Given the description of an element on the screen output the (x, y) to click on. 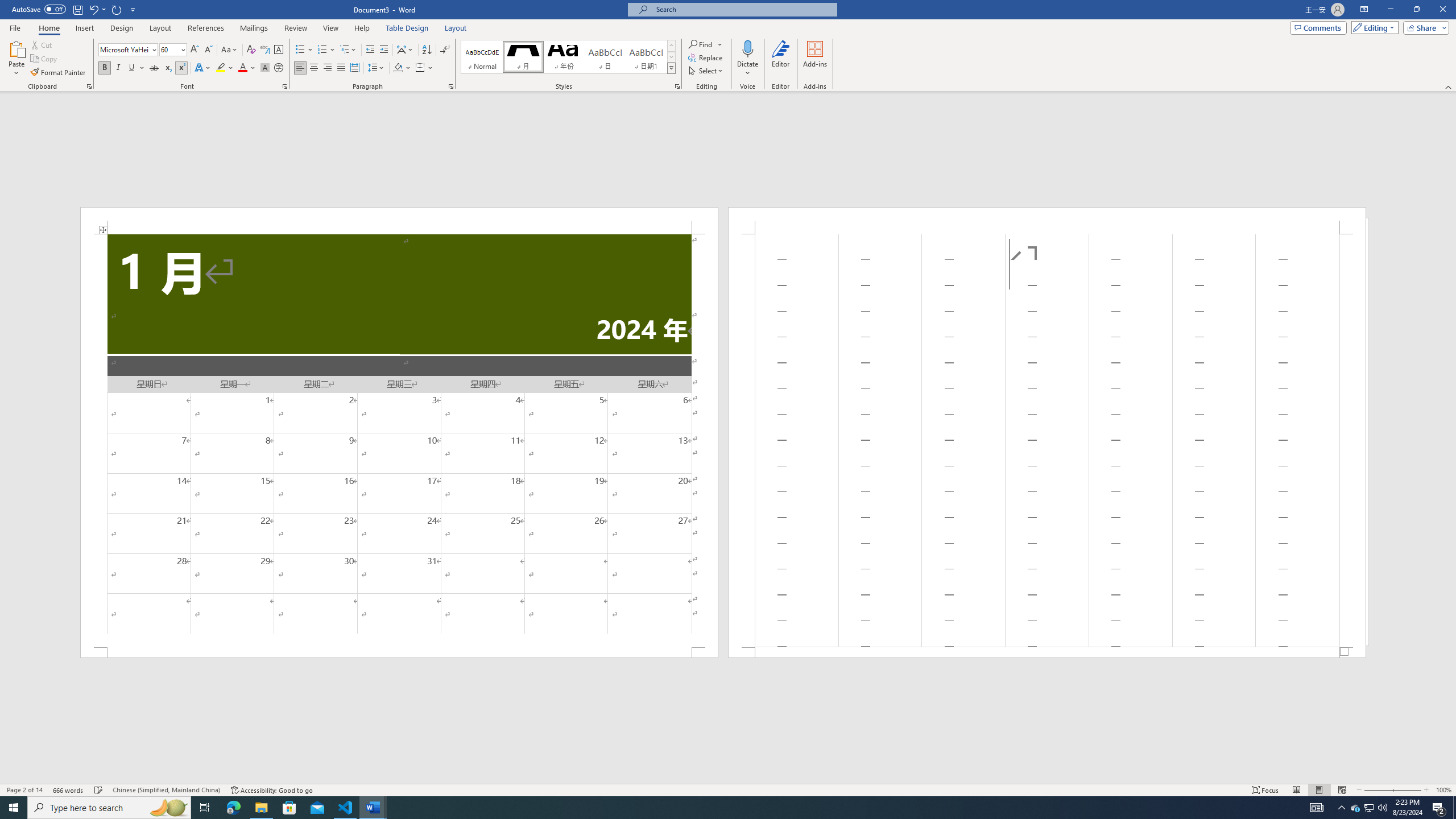
Close (1442, 9)
Text Highlight Color Yellow (220, 67)
Office Clipboard... (88, 85)
Show/Hide Editing Marks (444, 49)
Font... (285, 85)
Numbering (322, 49)
